Given the description of an element on the screen output the (x, y) to click on. 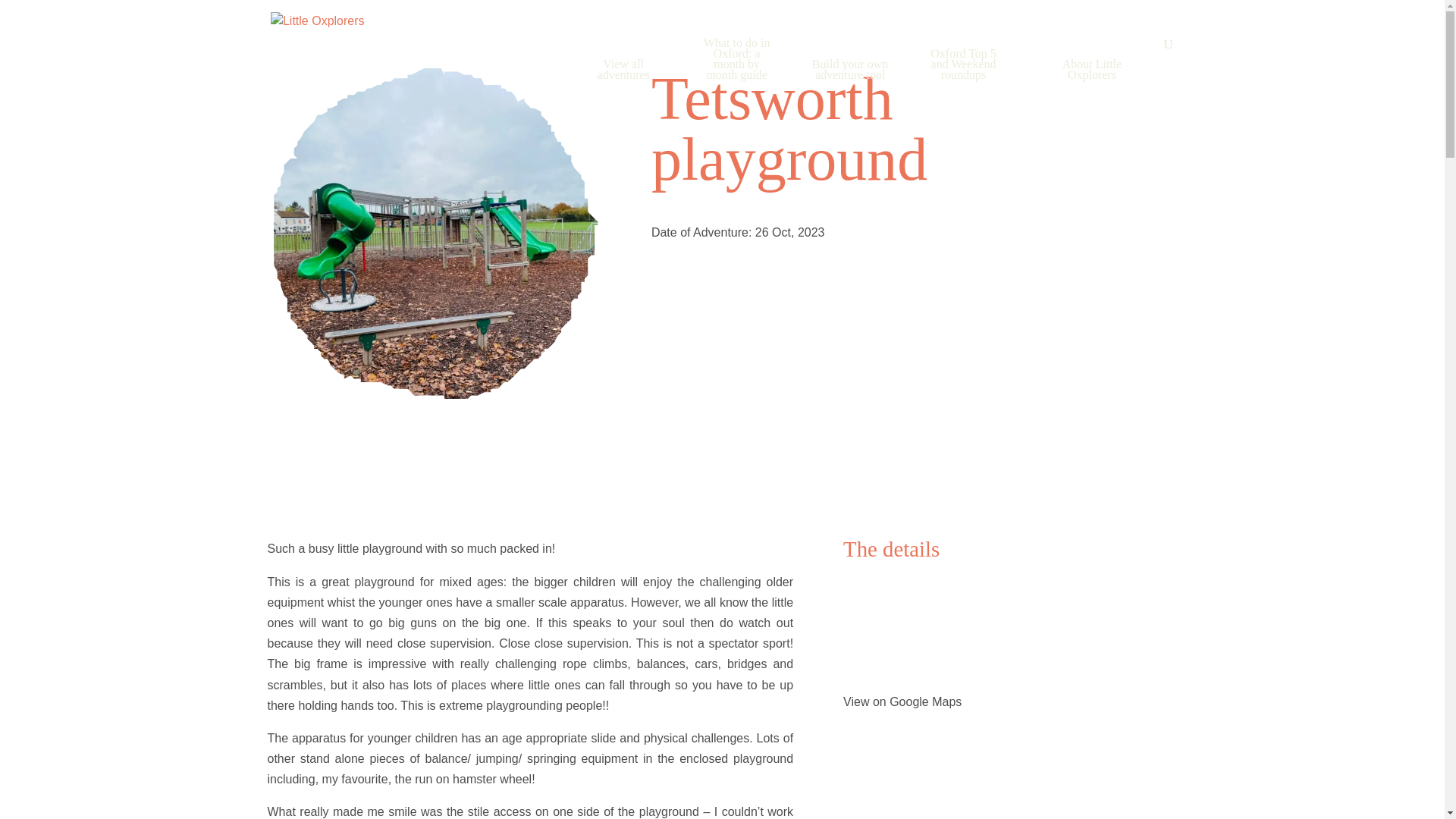
Build your own adventure tool (849, 87)
Oxford Top 5 and Weekend roundups (963, 82)
What to do in Oxford: a month by month guide (736, 77)
View all adventures (623, 87)
About Little Oxplorers (1091, 87)
